Given the description of an element on the screen output the (x, y) to click on. 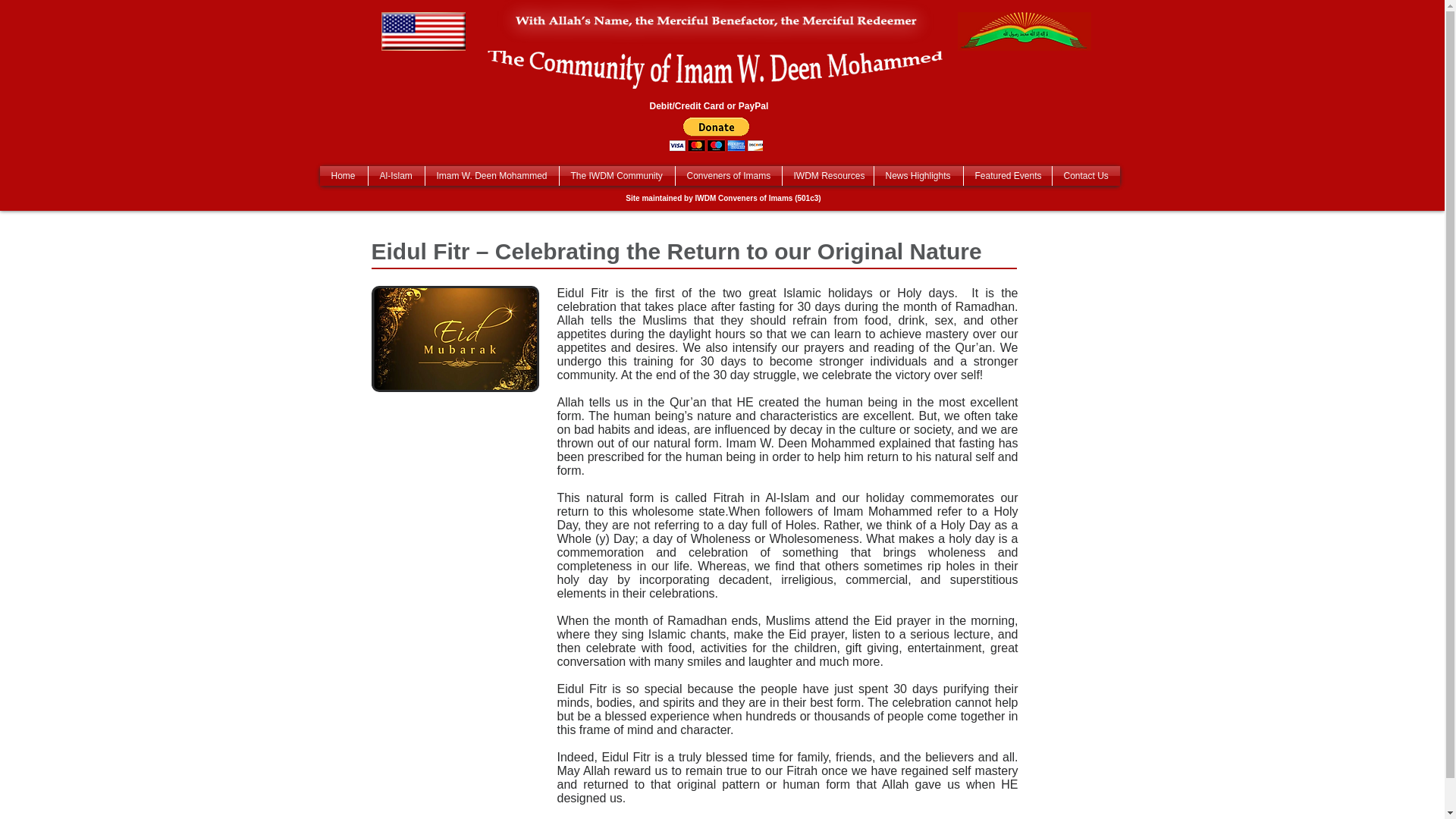
Conveners of Imams (727, 175)
The IWDM Community (617, 175)
Imam W. Deen Mohammed (491, 175)
IWDM Resources (828, 175)
Al-Islam (396, 175)
Home (344, 175)
